Given the description of an element on the screen output the (x, y) to click on. 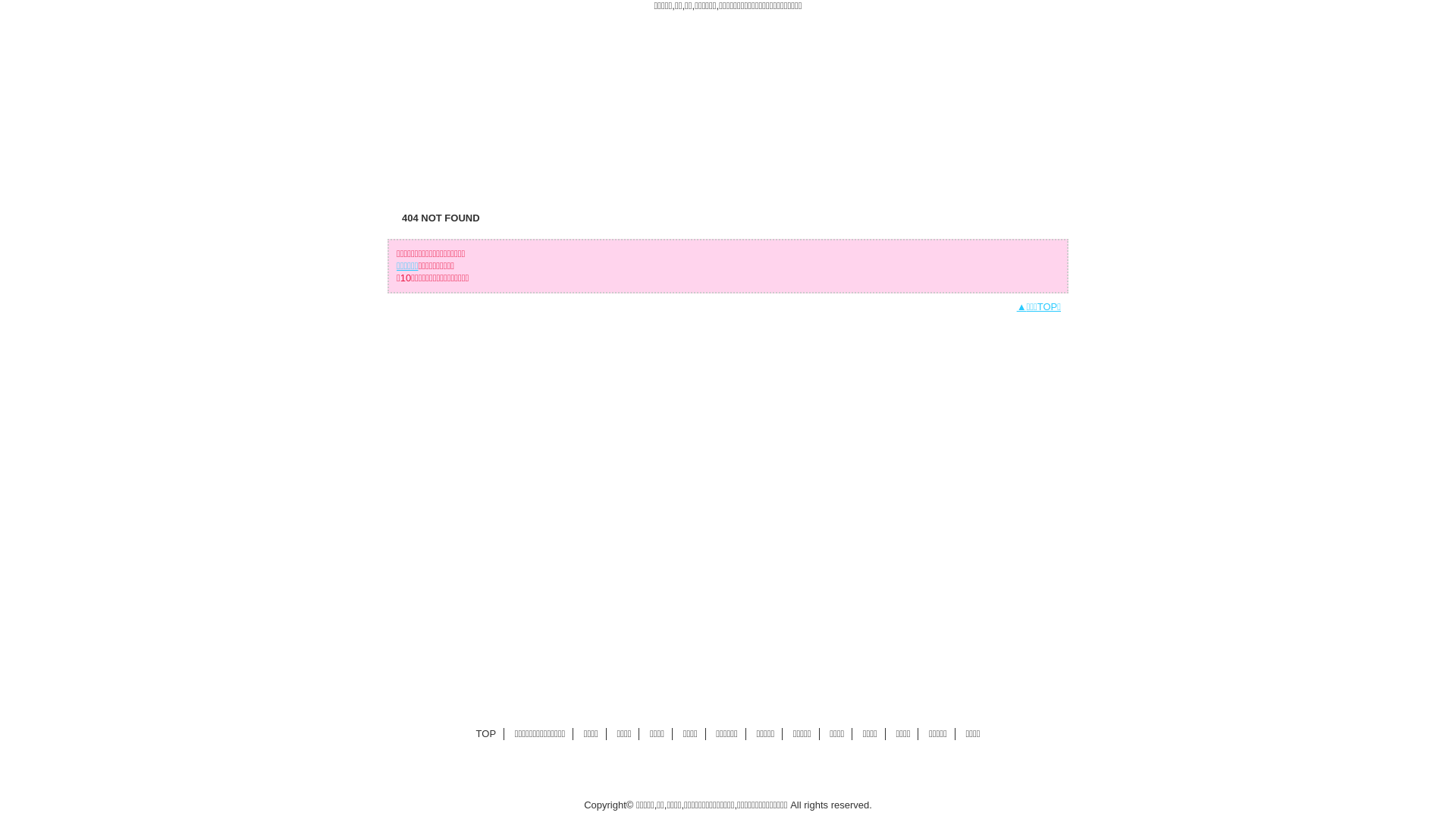
TOP Element type: text (486, 733)
TOP Element type: text (418, 145)
